Given the description of an element on the screen output the (x, y) to click on. 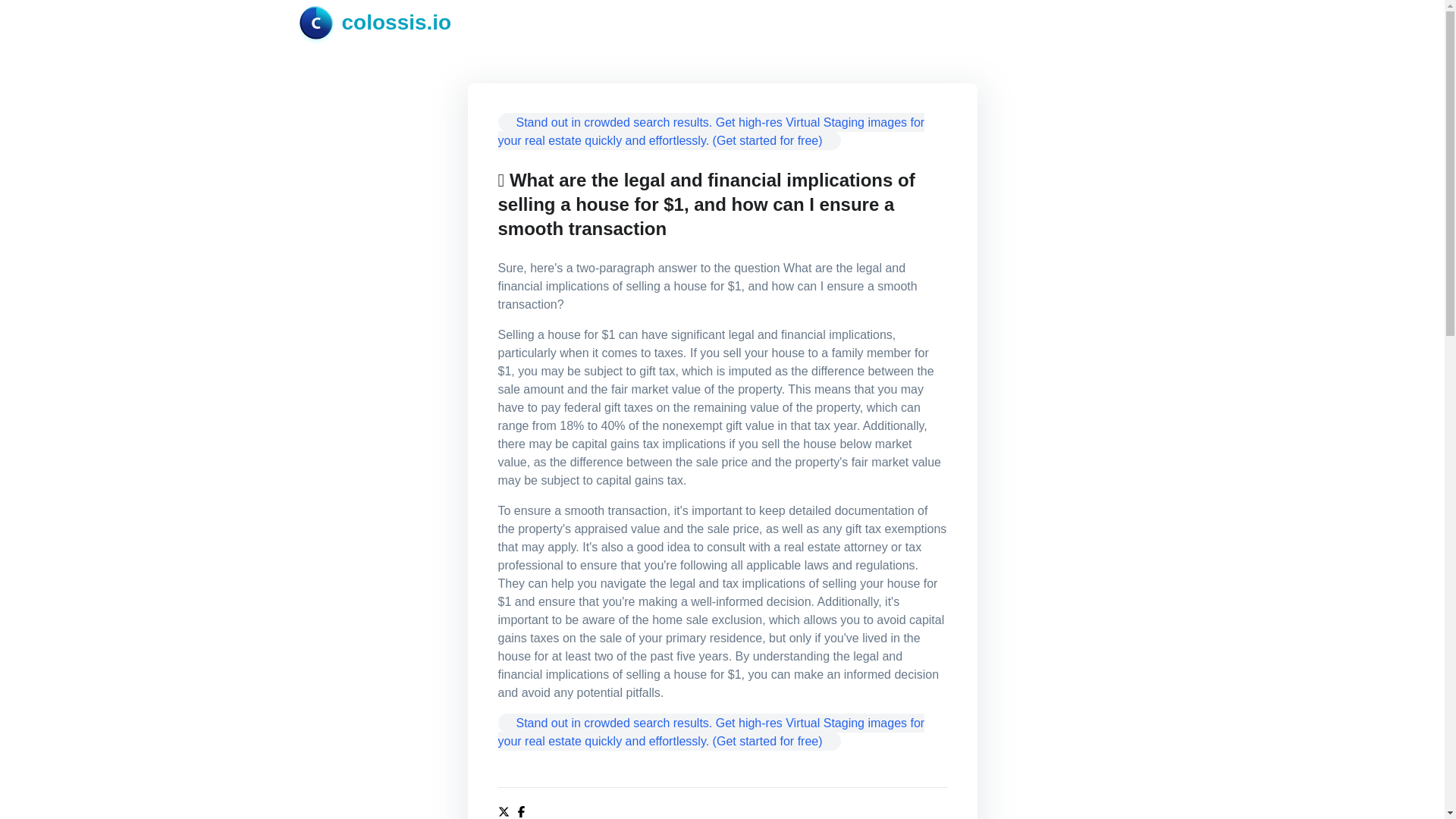
colossis.io (374, 22)
